Given the description of an element on the screen output the (x, y) to click on. 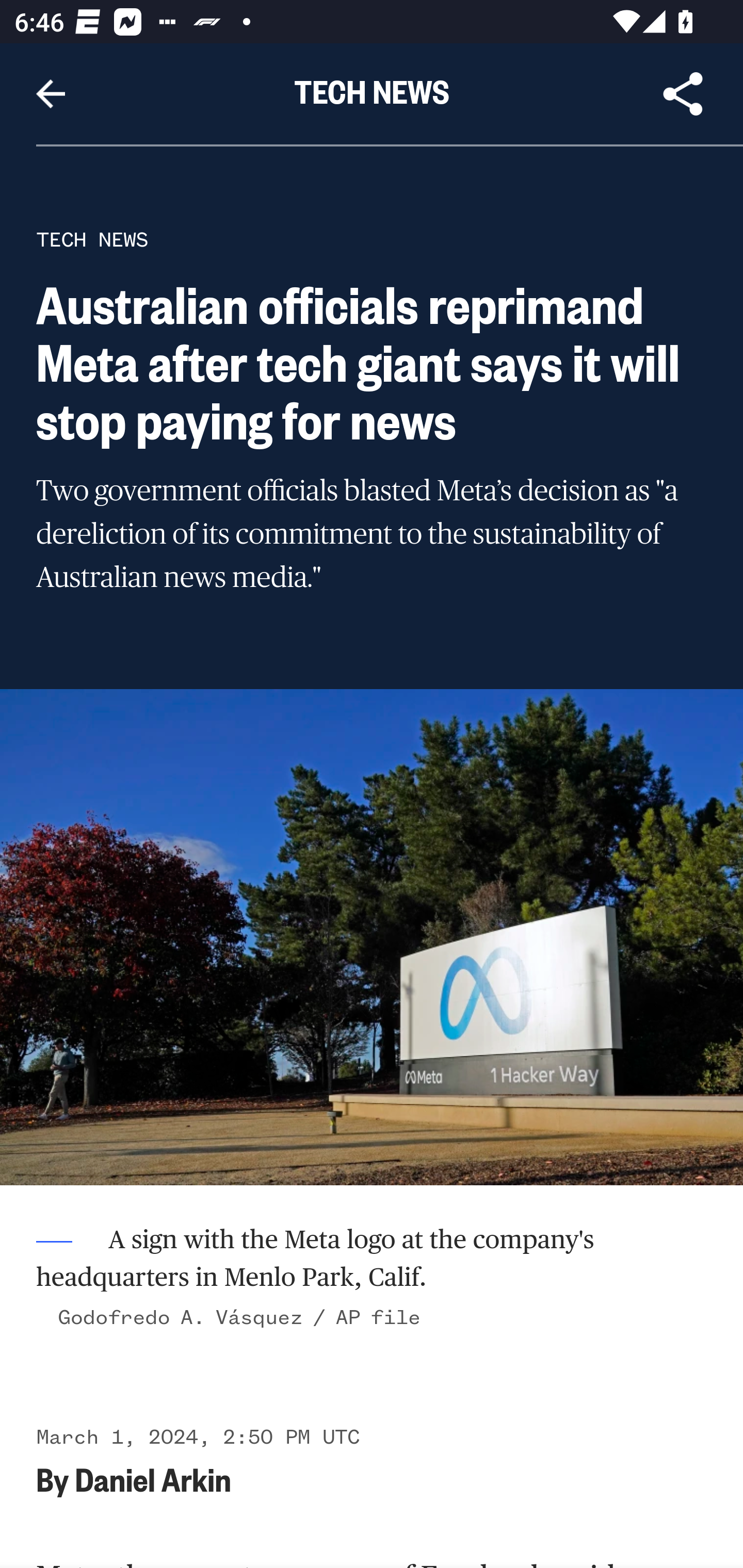
Navigate up (50, 93)
Share Article, button (683, 94)
TECH NEWS (91, 239)
